Given the description of an element on the screen output the (x, y) to click on. 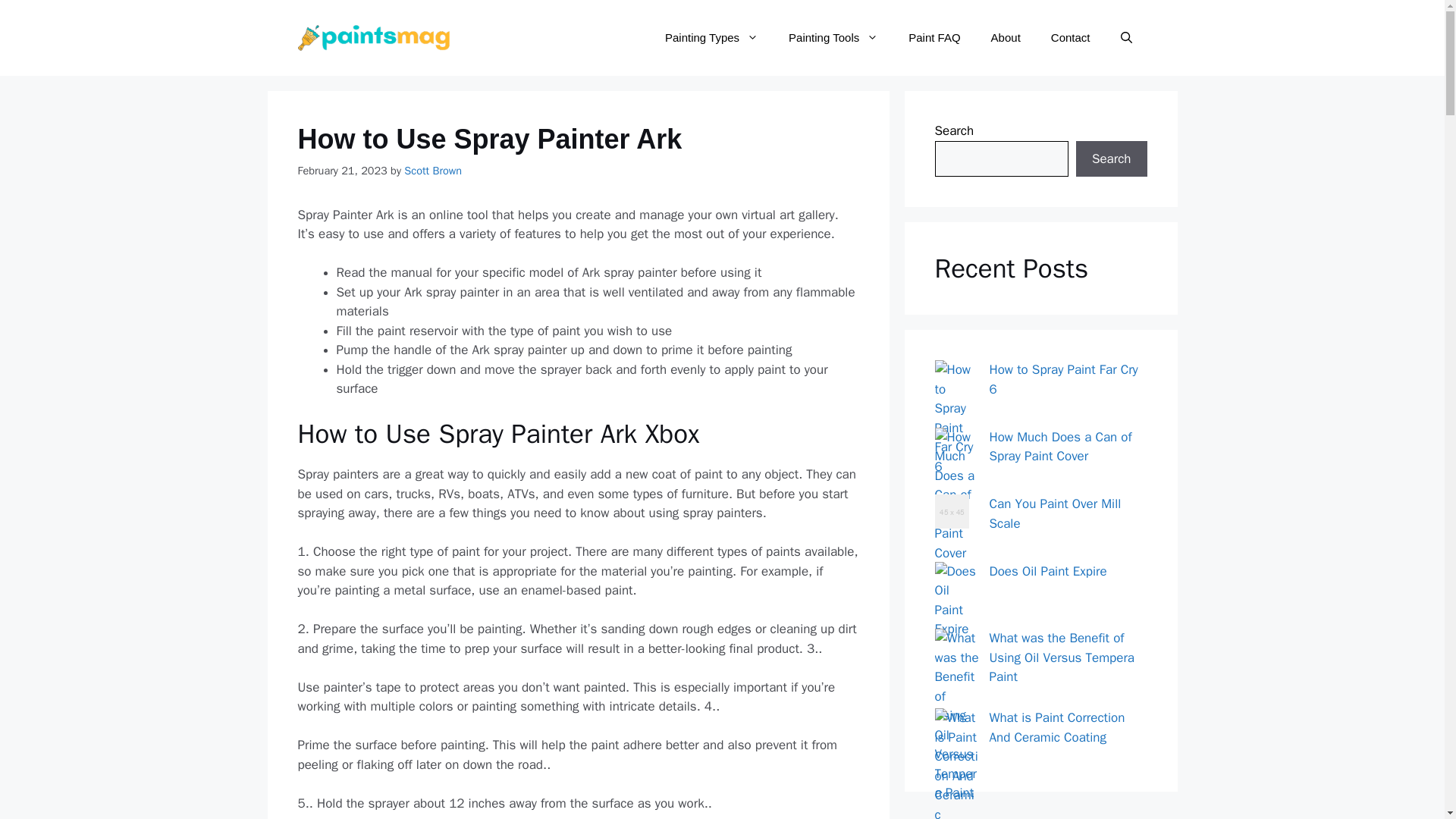
How to Spray Paint Far Cry 6 (1062, 379)
Painting Types (711, 37)
Does Oil Paint Expire (1047, 570)
How Much Does a Can of Spray Paint Cover (1059, 447)
View all posts by Scott Brown (432, 170)
What is Paint Correction And Ceramic Coating (1056, 727)
What was the Benefit of Using Oil Versus Tempera Paint (1061, 656)
Paint FAQ (934, 37)
Contact (1070, 37)
Painting Tools (833, 37)
About (1005, 37)
Can You Paint Over Mill Scale (1054, 513)
Scott Brown (432, 170)
Search (1111, 158)
